Given the description of an element on the screen output the (x, y) to click on. 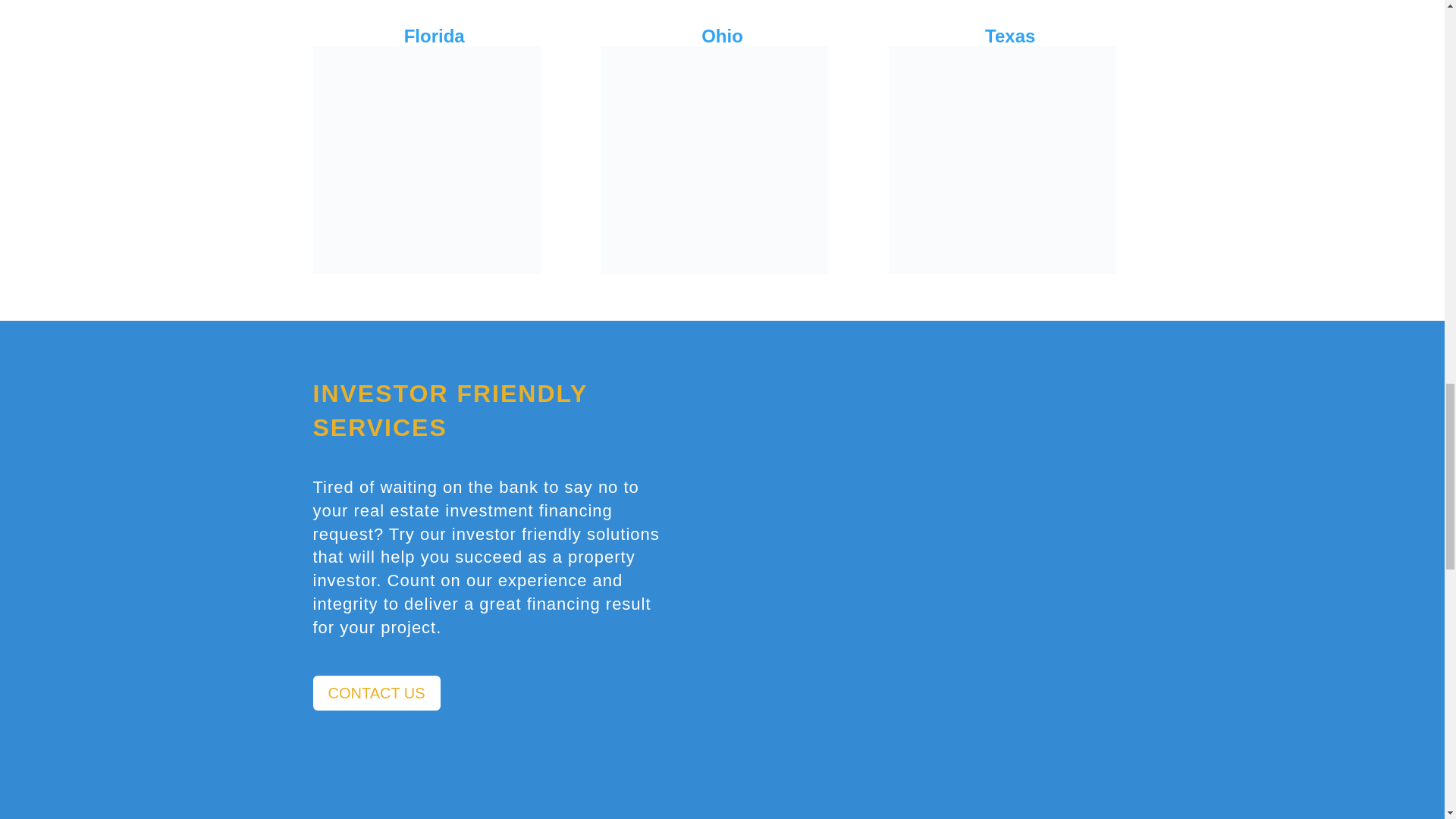
CONTACT US (376, 692)
ohio-real-estate-dscr-loan-300 (713, 159)
Texas (1010, 35)
florida-real-estate-dscr-loan-300 (426, 159)
Ohio (721, 35)
texas-real-estate-dscr-loan-300 (1002, 159)
Florida (434, 35)
